Given the description of an element on the screen output the (x, y) to click on. 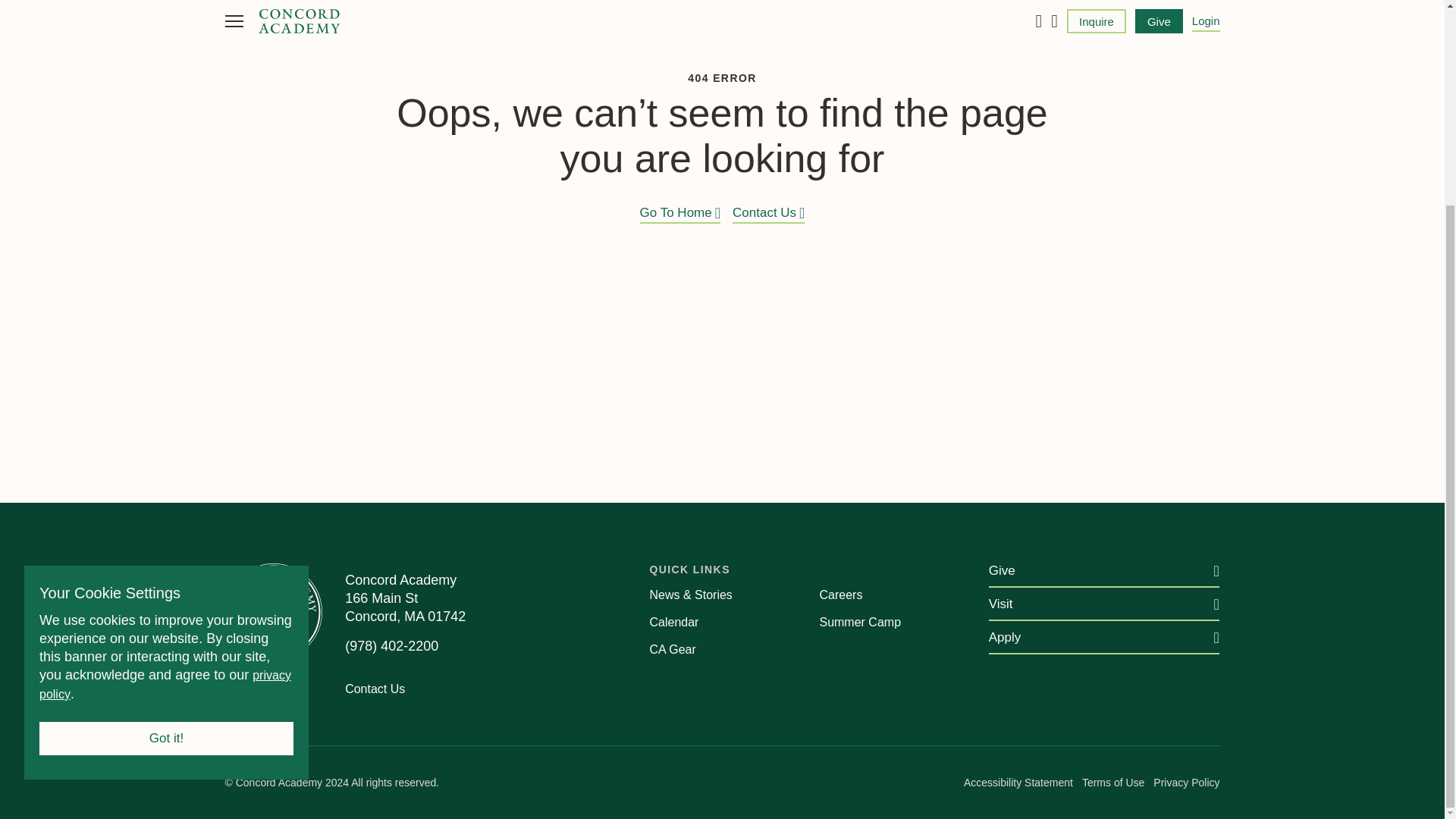
Accept All (166, 473)
